Given the description of an element on the screen output the (x, y) to click on. 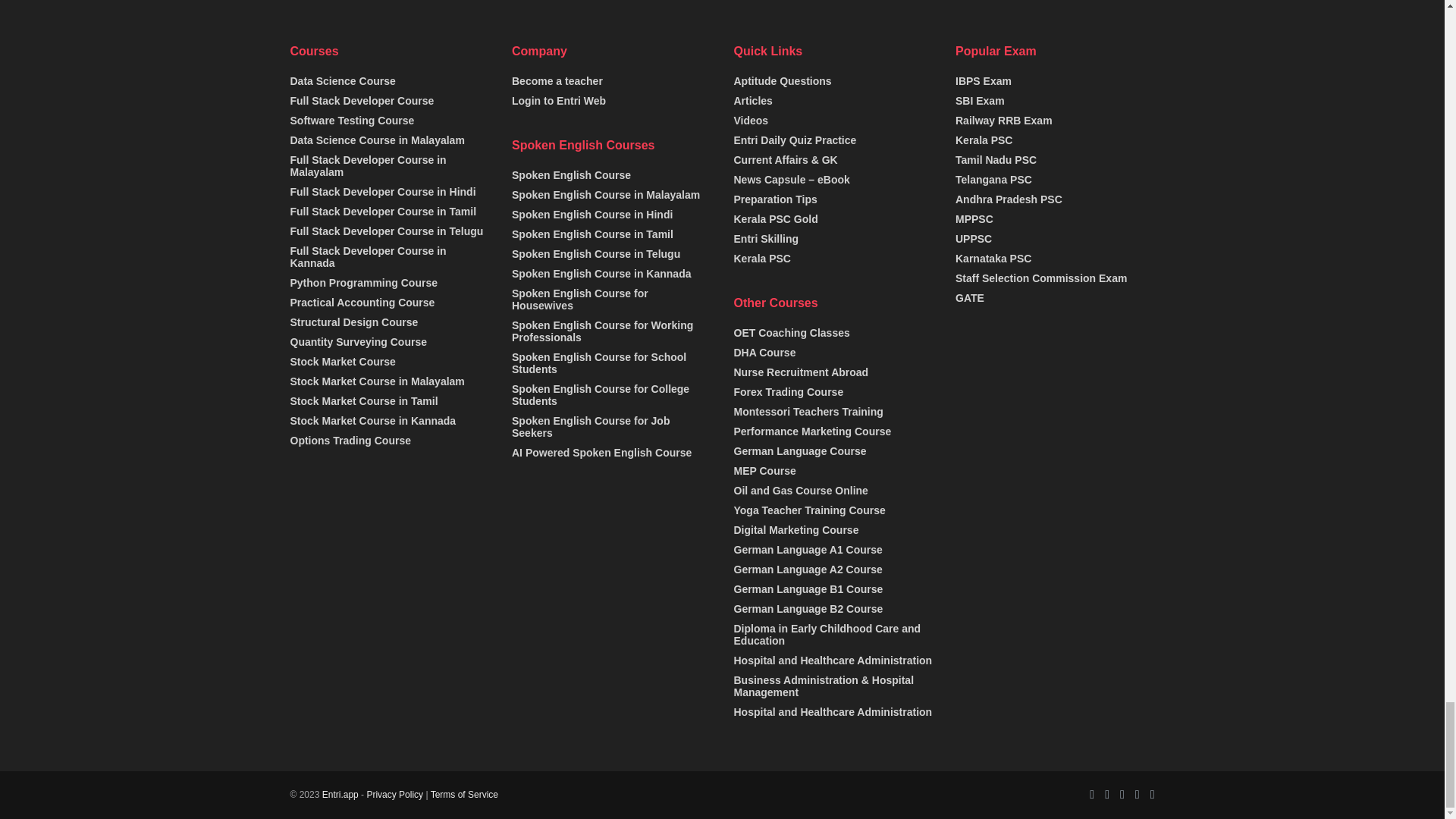
Terms of Service (463, 794)
Entri (339, 794)
